Given the description of an element on the screen output the (x, y) to click on. 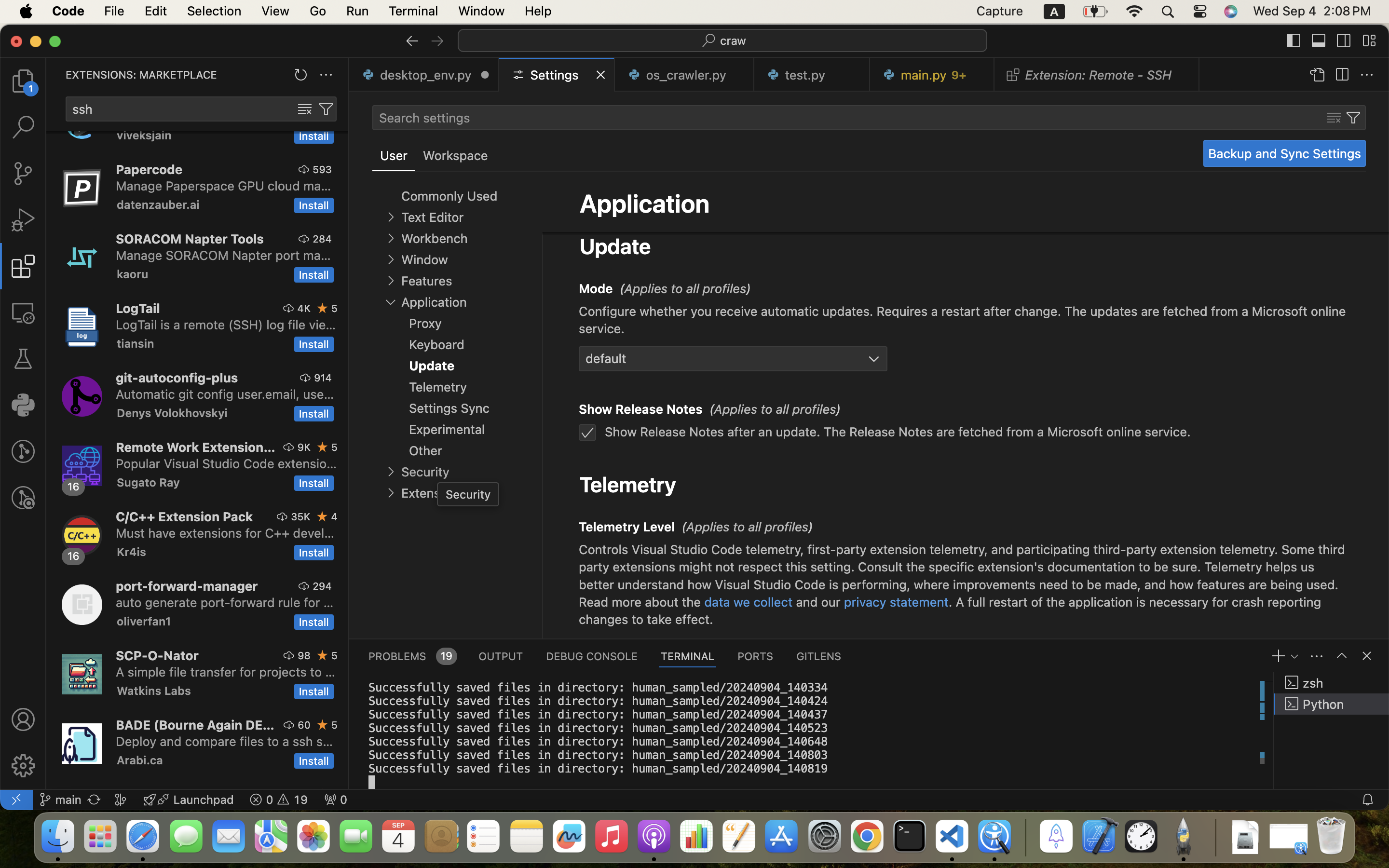
craw Element type: AXStaticText (733, 40)
Workbench Element type: AXStaticText (434, 238)
Sugato Ray Element type: AXStaticText (148, 481)
0 PORTS Element type: AXRadioButton (755, 655)
SCP-O-Nator Element type: AXStaticText (156, 655)
